Given the description of an element on the screen output the (x, y) to click on. 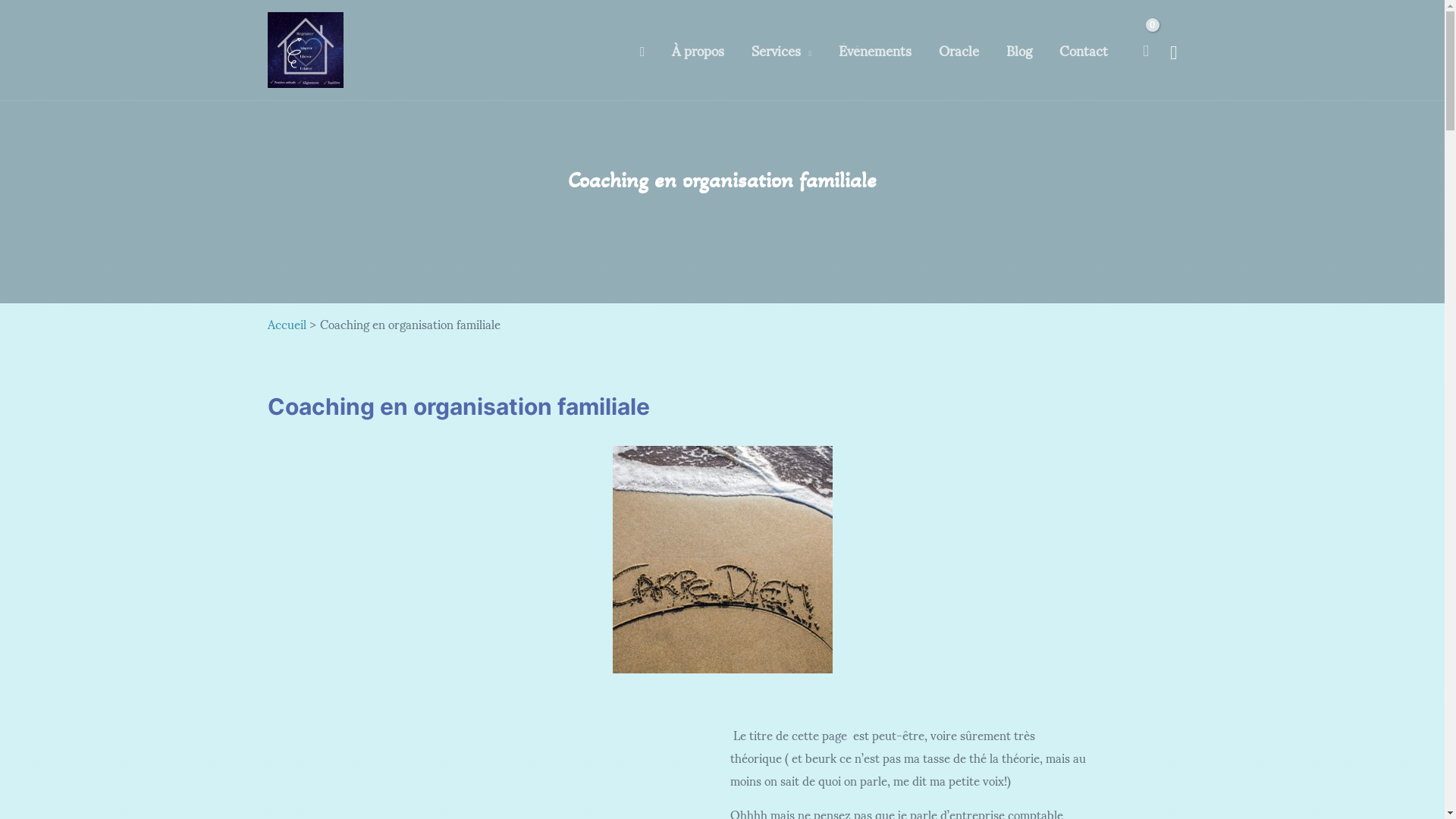
Oracle Element type: text (958, 48)
Blog Element type: text (1018, 48)
Services Element type: text (781, 48)
Accueil Element type: text (285, 323)
Contact Element type: text (1083, 48)
